Given the description of an element on the screen output the (x, y) to click on. 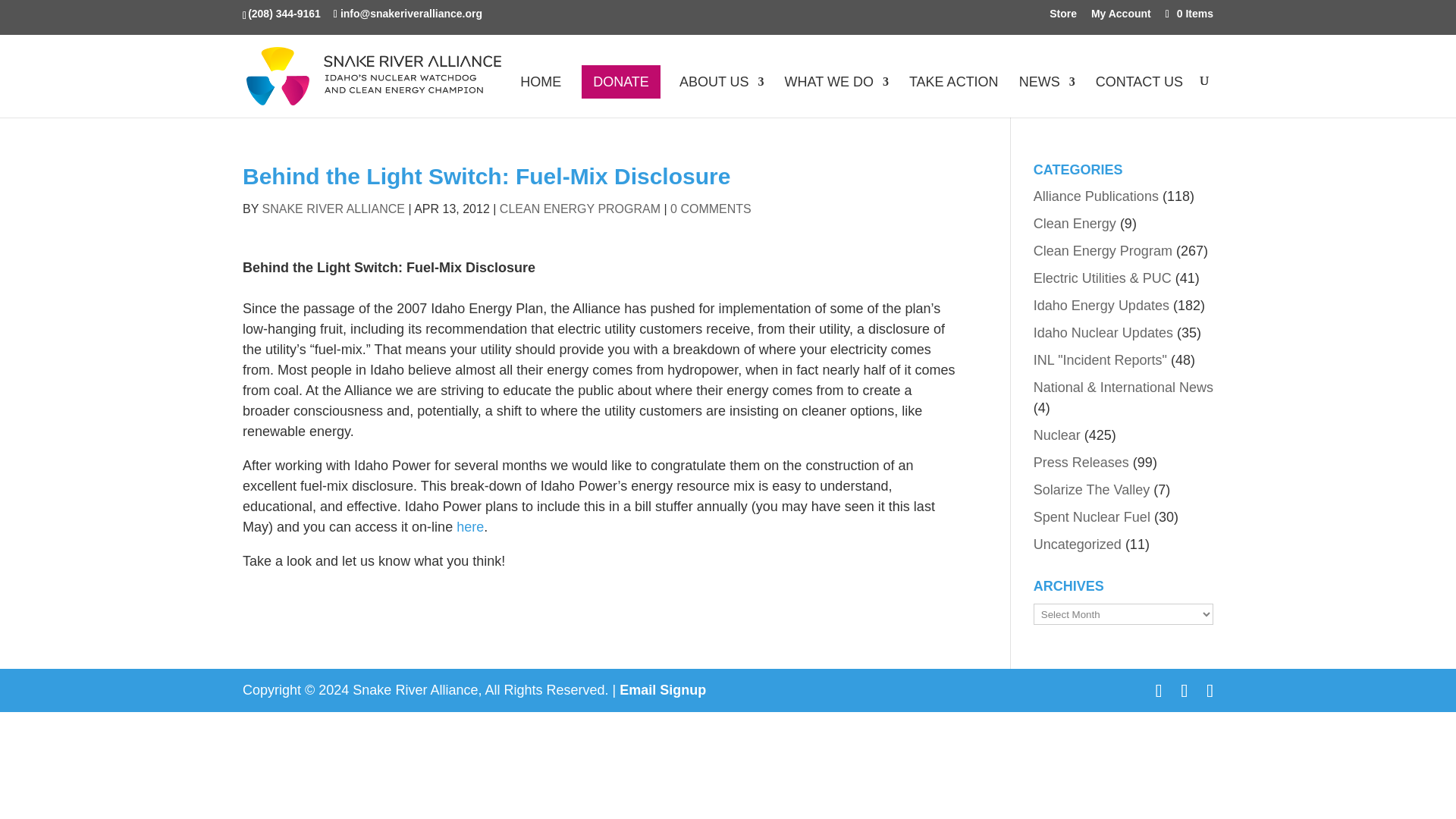
WHAT WE DO (836, 96)
TAKE ACTION (953, 96)
CONTACT US (1139, 96)
NEWS (1047, 96)
0 Items (1186, 13)
My Account (1120, 16)
Posts by Snake River Alliance (334, 208)
HOME (539, 96)
DONATE (620, 81)
ABOUT US (721, 96)
Store (1063, 16)
